Given the description of an element on the screen output the (x, y) to click on. 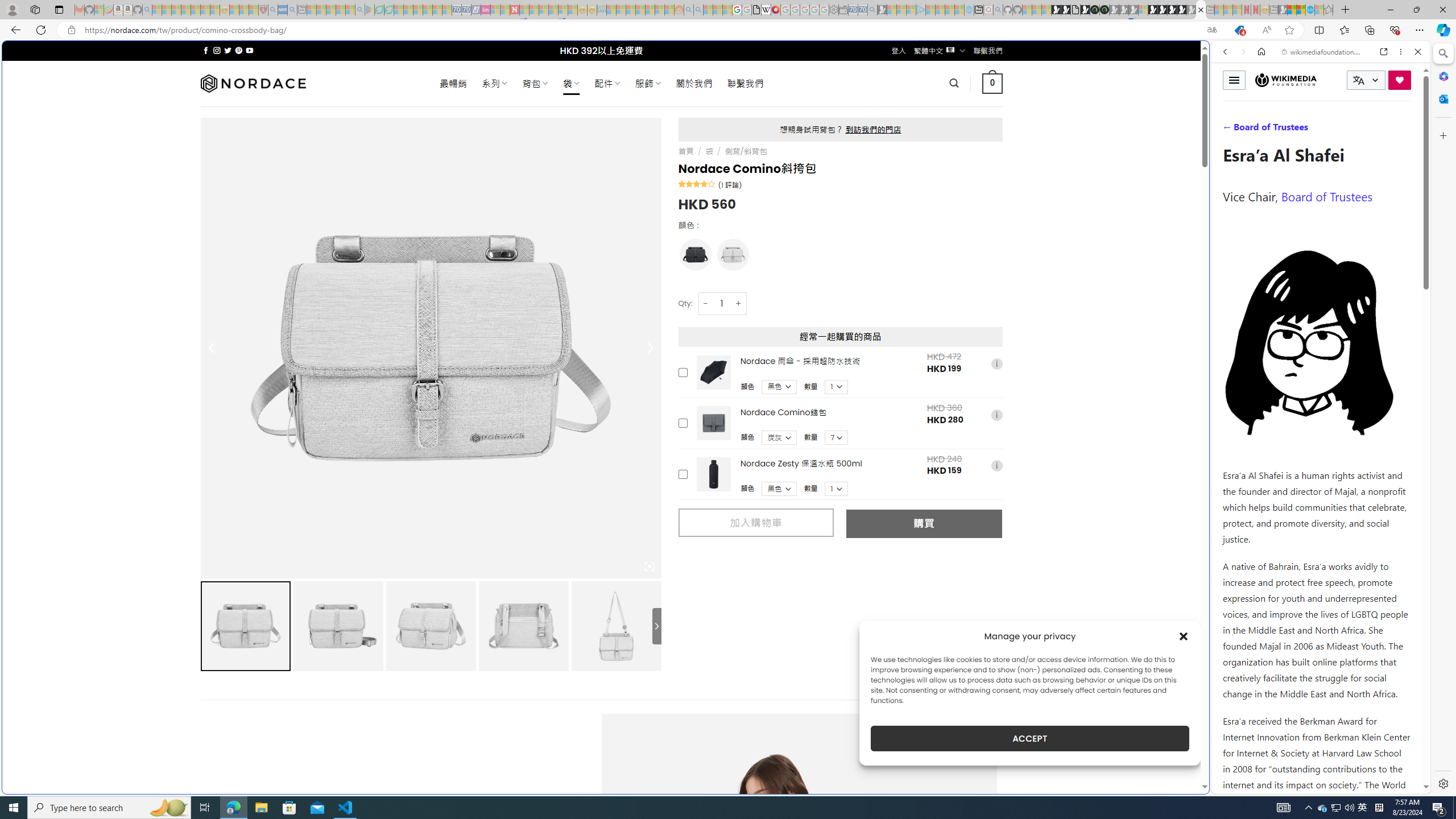
Services - Maintenance | Sky Blue Bikes - Sky Blue Bikes (1309, 9)
Settings - Sleeping (833, 9)
